Given the description of an element on the screen output the (x, y) to click on. 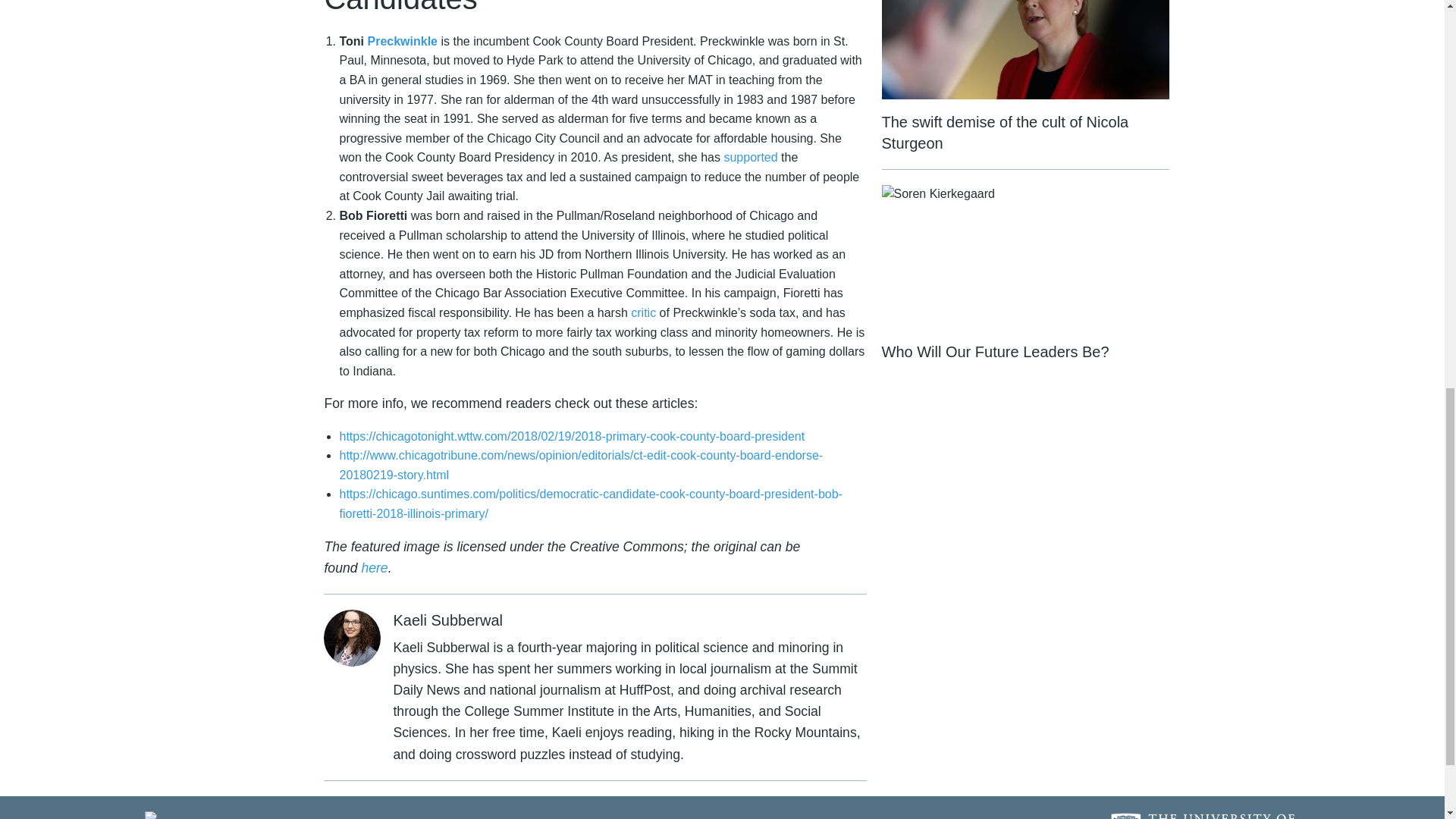
critic (643, 312)
Who Will Our Future Leaders Be? (1024, 273)
The swift demise of the cult of Nicola Sturgeon (1024, 84)
supported (750, 156)
here (374, 567)
Preckwinkle (403, 41)
